Given the description of an element on the screen output the (x, y) to click on. 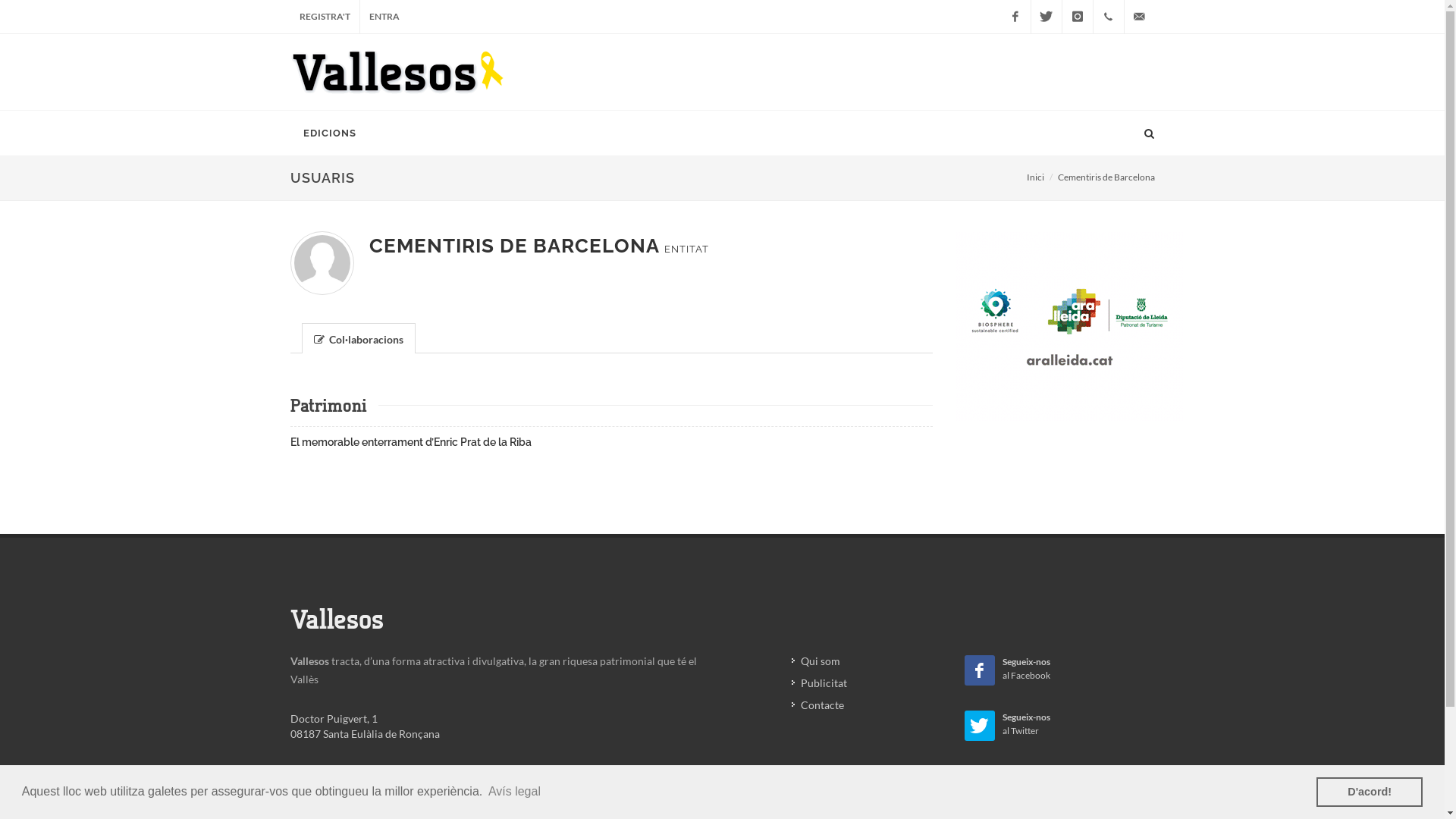
D'acord! Element type: text (1369, 791)
Contacte Element type: text (818, 704)
Segueix-nos
al Twitter Element type: text (1059, 723)
ENTRA Element type: text (383, 16)
REGISTRA'T Element type: text (323, 16)
Inici Element type: text (1035, 176)
USUARIS Element type: text (721, 178)
Segueix-nos
a Instagram Element type: text (1059, 779)
3rd party ad content Element type: hover (1069, 325)
Segueix-nos
al Facebook Element type: text (1059, 668)
Publicitat Element type: text (820, 682)
Cementiris de Barcelona Element type: text (1105, 176)
Qui som Element type: text (816, 660)
EDICIONS Element type: text (329, 133)
